Given the description of an element on the screen output the (x, y) to click on. 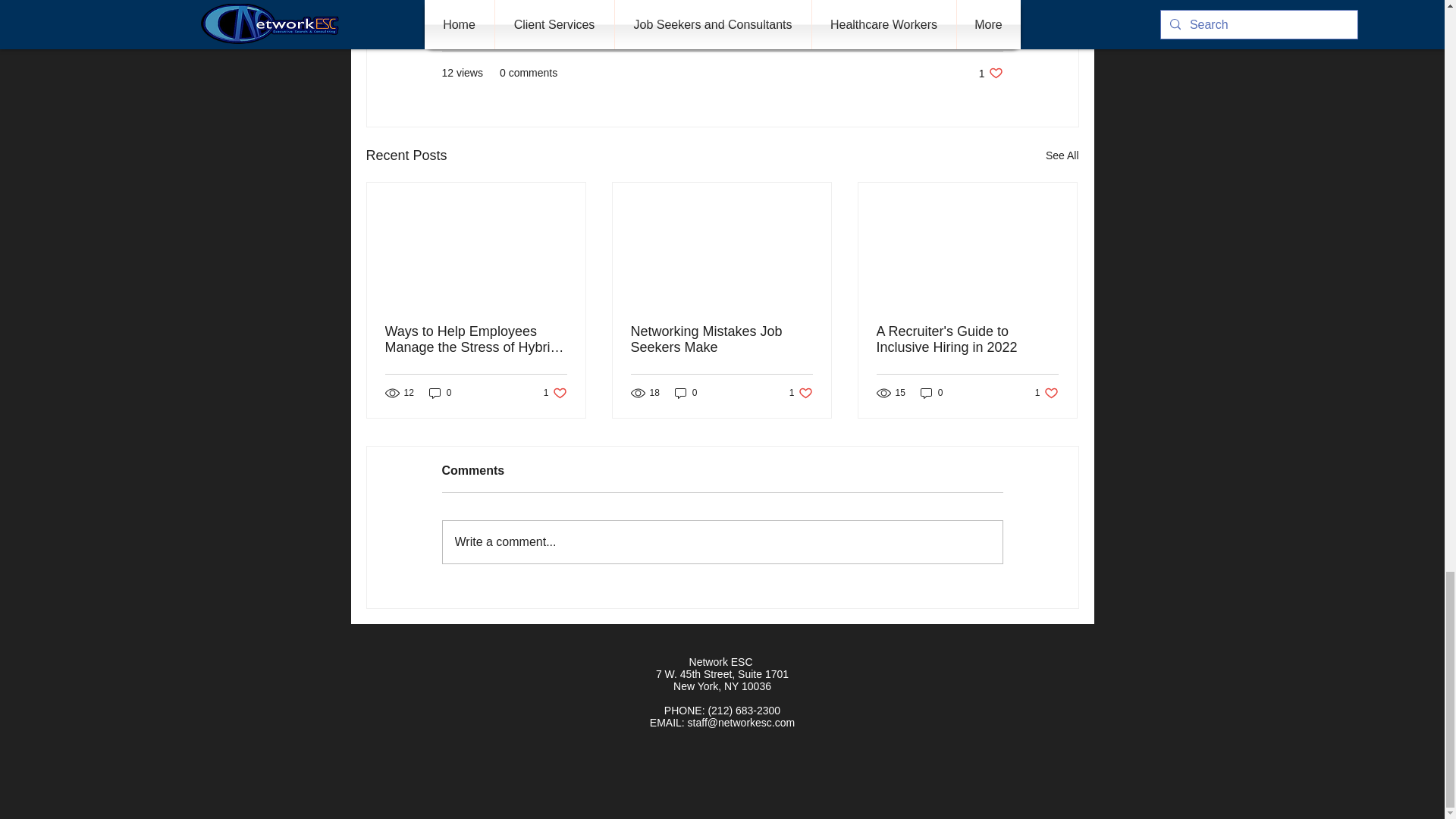
Staffing and Hiring (793, 28)
Higher Education (962, 28)
Leadership (879, 28)
See All (990, 73)
